Given the description of an element on the screen output the (x, y) to click on. 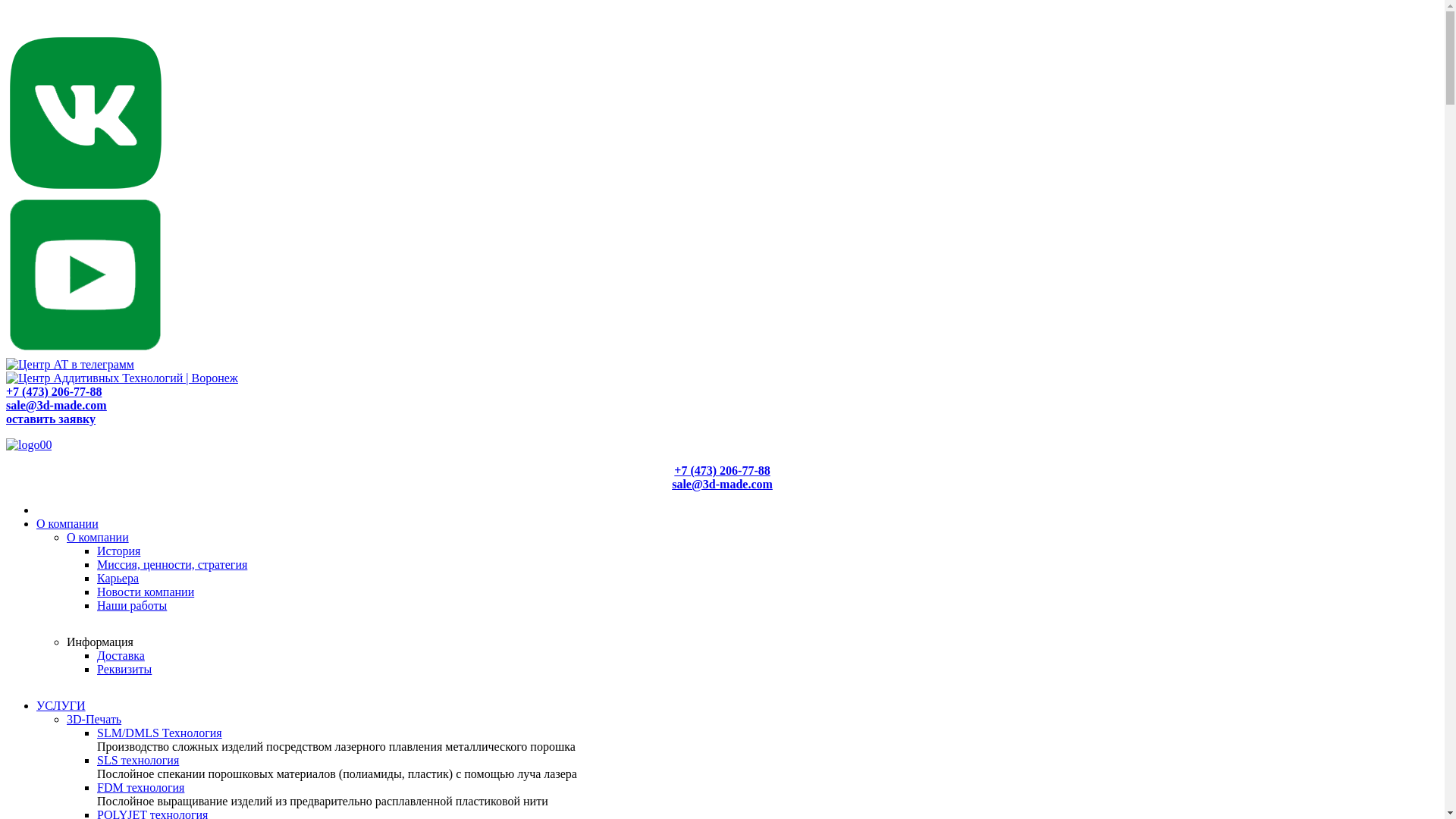
+7 (473) 206-77-88 Element type: text (721, 470)
+7 (473) 206-77-88 Element type: text (53, 391)
sale@3d-made.com Element type: text (721, 483)
sale@3d-made.com Element type: text (56, 404)
